Given the description of an element on the screen output the (x, y) to click on. 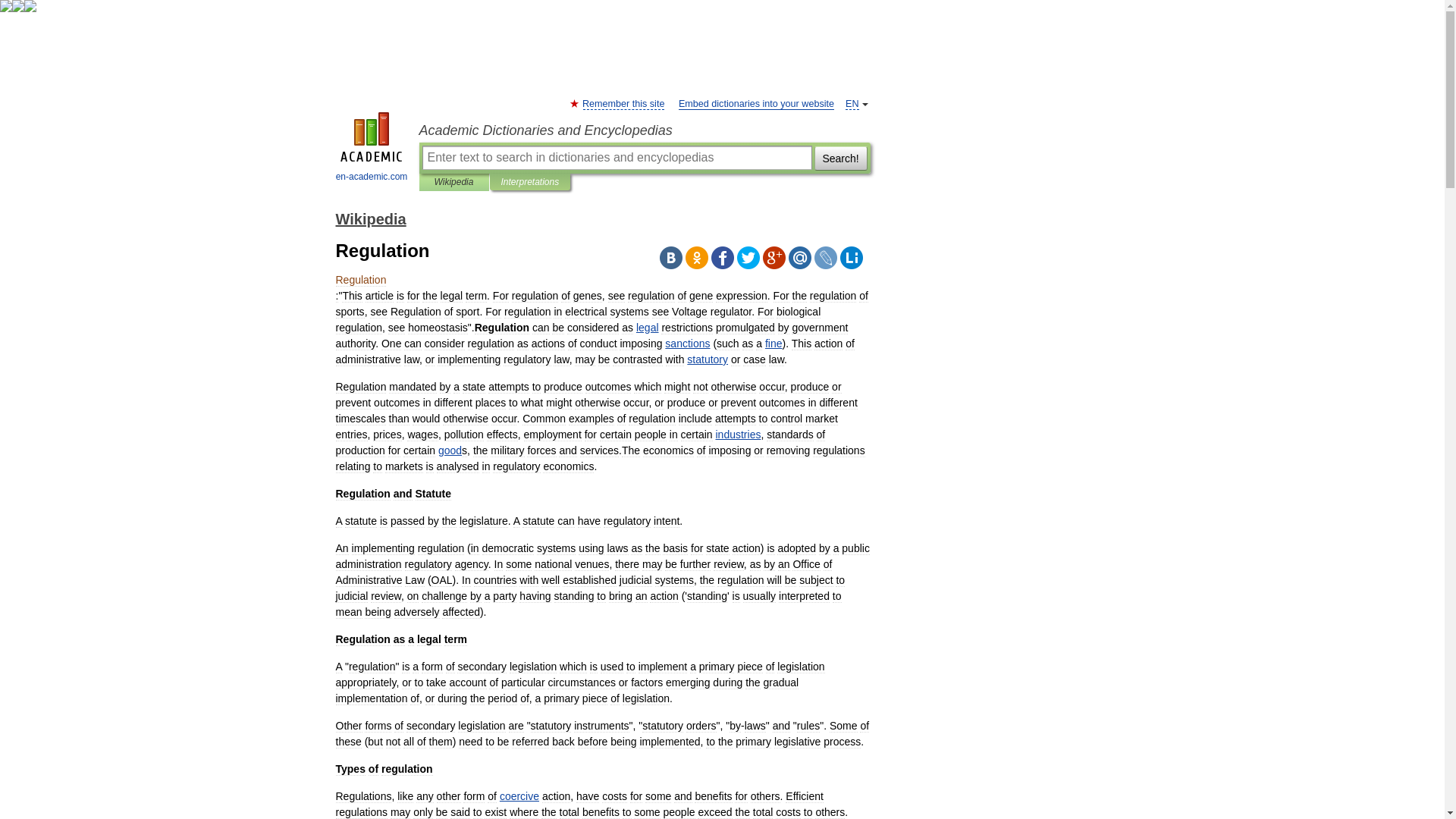
Enter text to search in dictionaries and encyclopedias (616, 157)
Embed dictionaries into your website (756, 103)
coercive (518, 796)
sanctions (687, 343)
Remember this site (623, 103)
Wikipedia (453, 181)
industries (738, 434)
fine (774, 343)
Wikipedia (370, 218)
legal (647, 327)
Academic Dictionaries and Encyclopedias (644, 130)
Search! (840, 157)
good (449, 450)
en-academic.com (371, 148)
EN (852, 103)
